Given the description of an element on the screen output the (x, y) to click on. 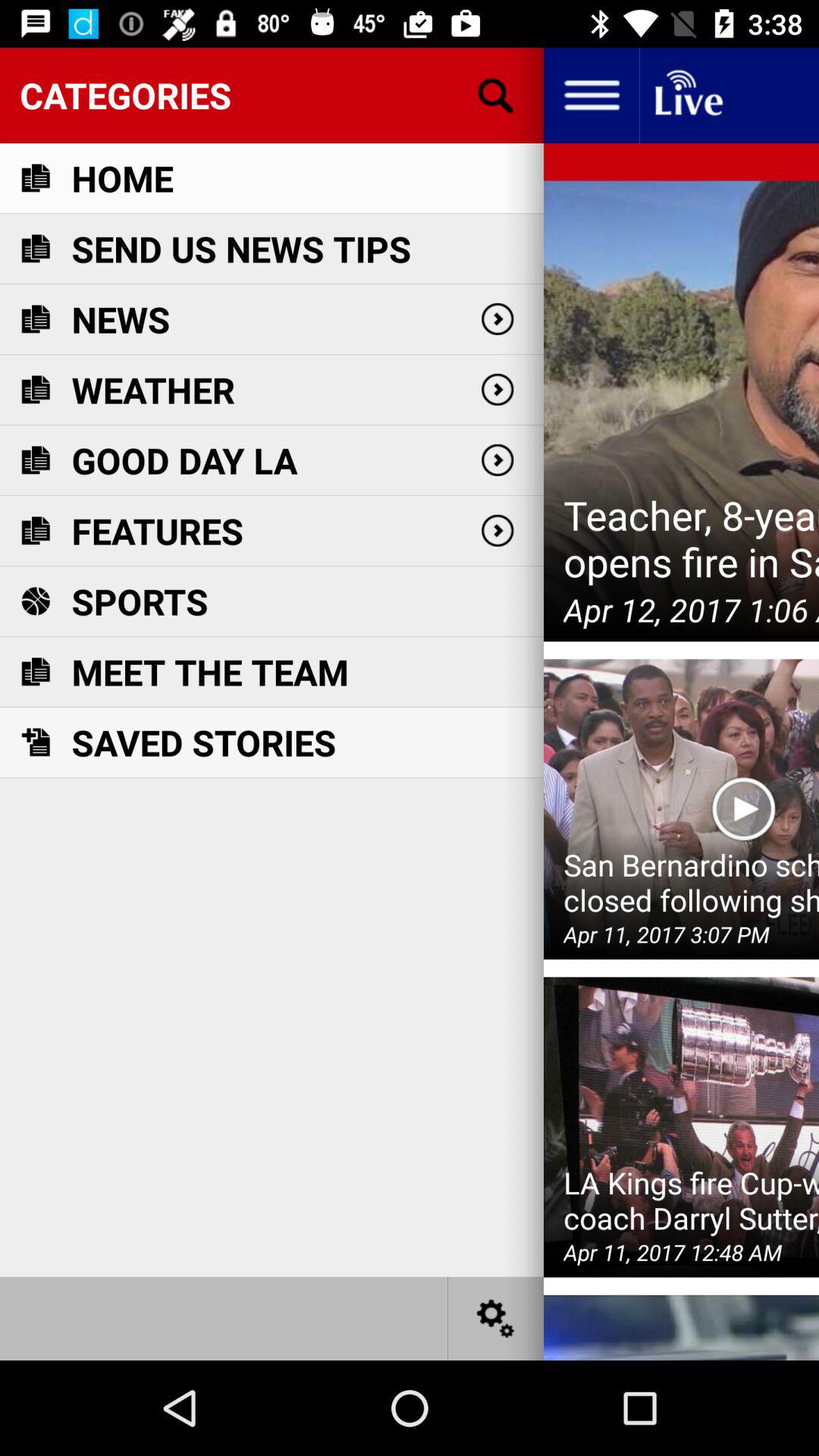
launch icon above sports icon (157, 530)
